Given the description of an element on the screen output the (x, y) to click on. 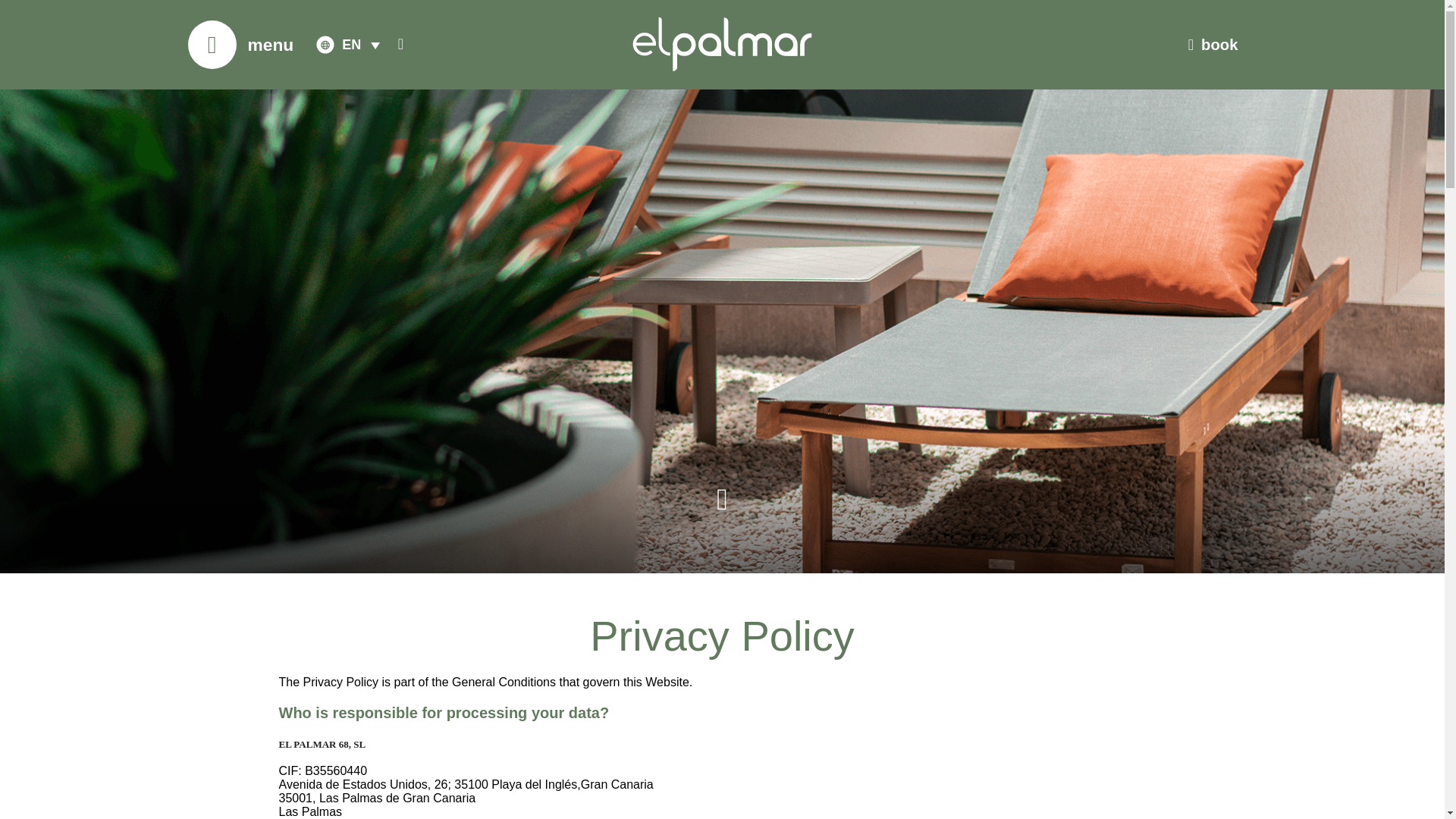
menu (270, 44)
EN (360, 44)
book (1213, 44)
